Given the description of an element on the screen output the (x, y) to click on. 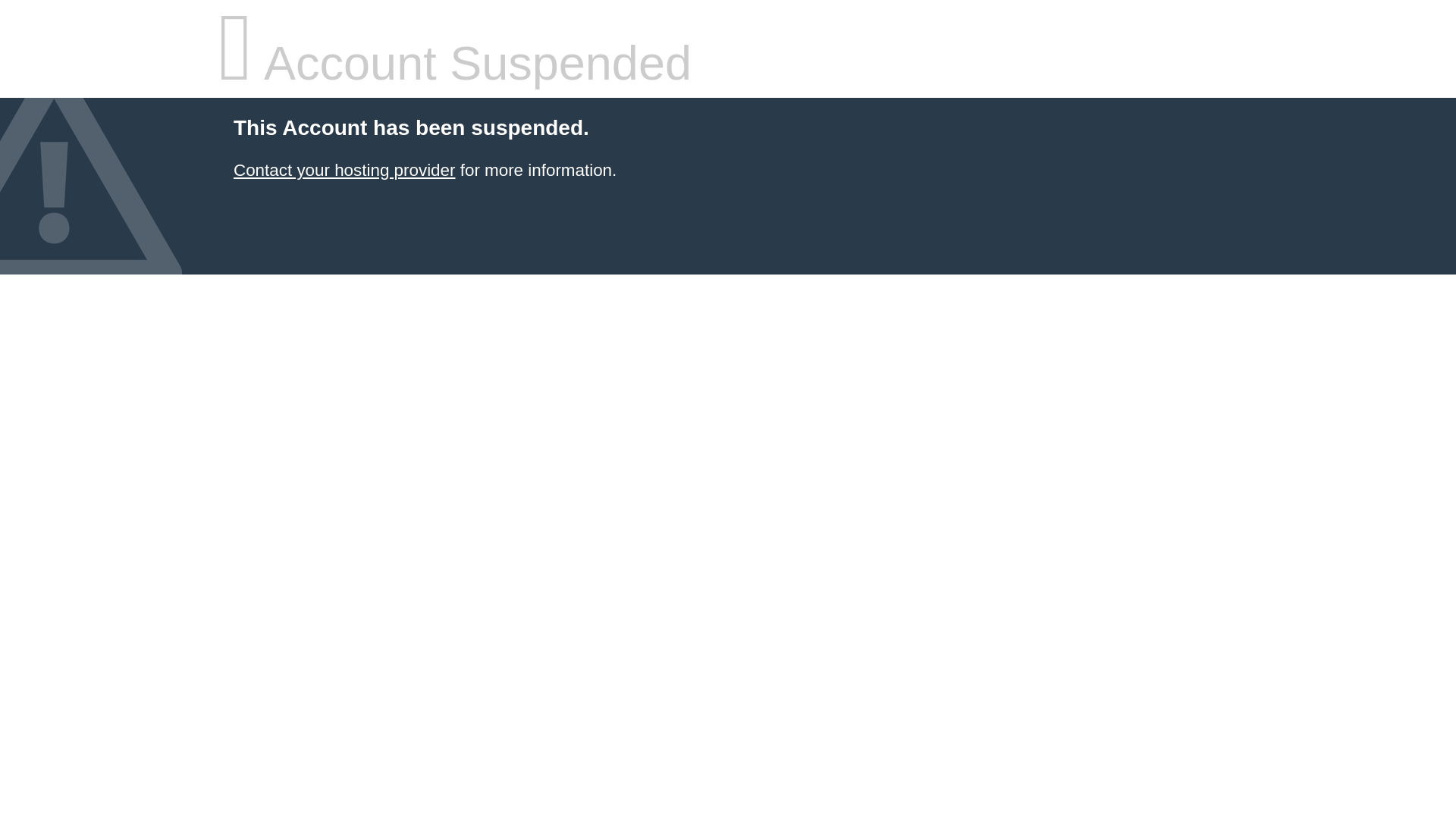
Contact your hosting provider (343, 169)
